Given the description of an element on the screen output the (x, y) to click on. 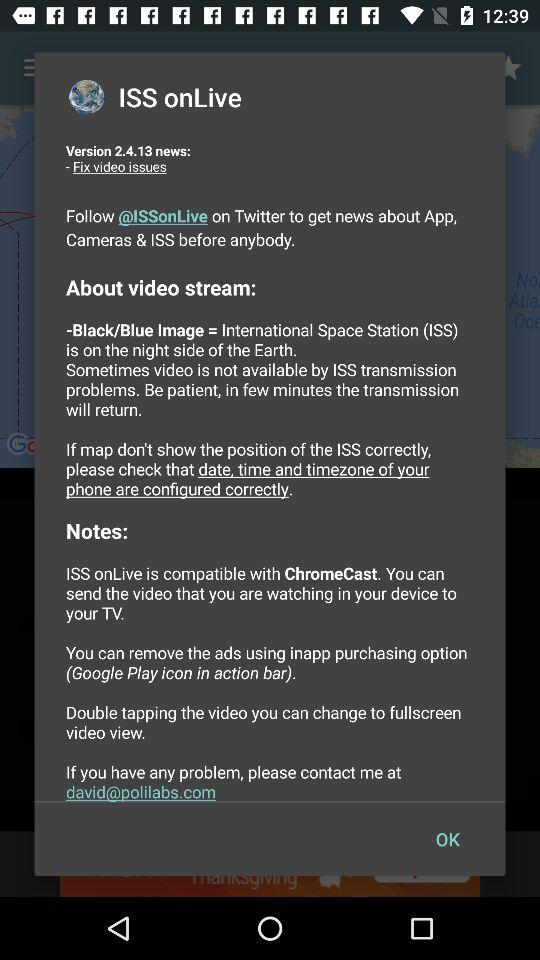
click item below the version 2 4 icon (447, 838)
